Given the description of an element on the screen output the (x, y) to click on. 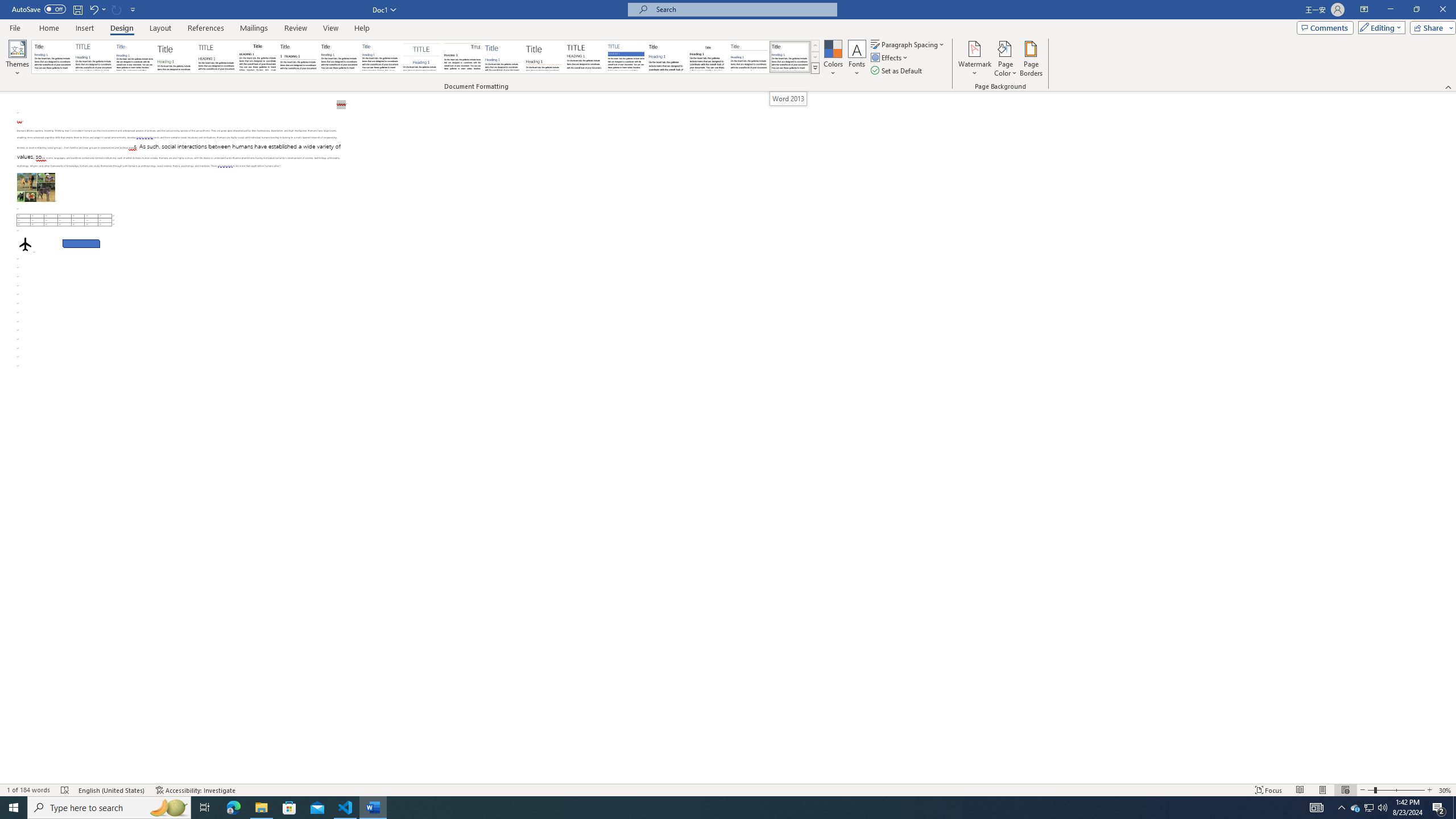
Document (52, 56)
Spelling and Grammar Check Errors (65, 790)
Language English (United States) (111, 790)
Black & White (Numbered) (298, 56)
Class: NetUIScrollBar (1450, 437)
Black & White (Word 2013) (338, 56)
